Given the description of an element on the screen output the (x, y) to click on. 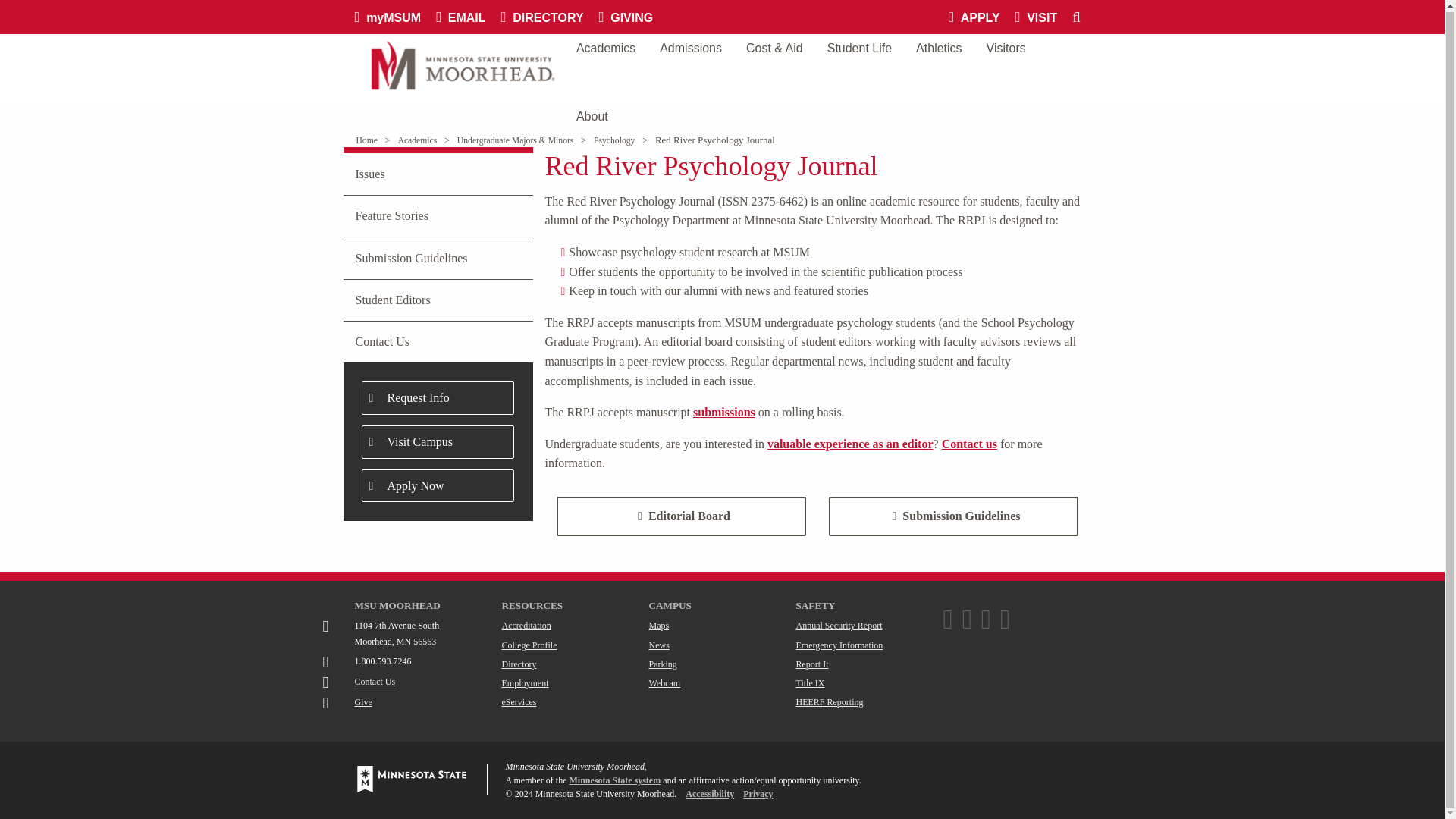
News (659, 644)
Directory (519, 664)
valuable experience as an editor (850, 443)
Emergency (839, 644)
VISIT (1043, 17)
Security Report (839, 624)
eService (519, 701)
Contact us (969, 443)
Give to MSUM Student Scholarships (363, 701)
College Profile (529, 644)
